Given the description of an element on the screen output the (x, y) to click on. 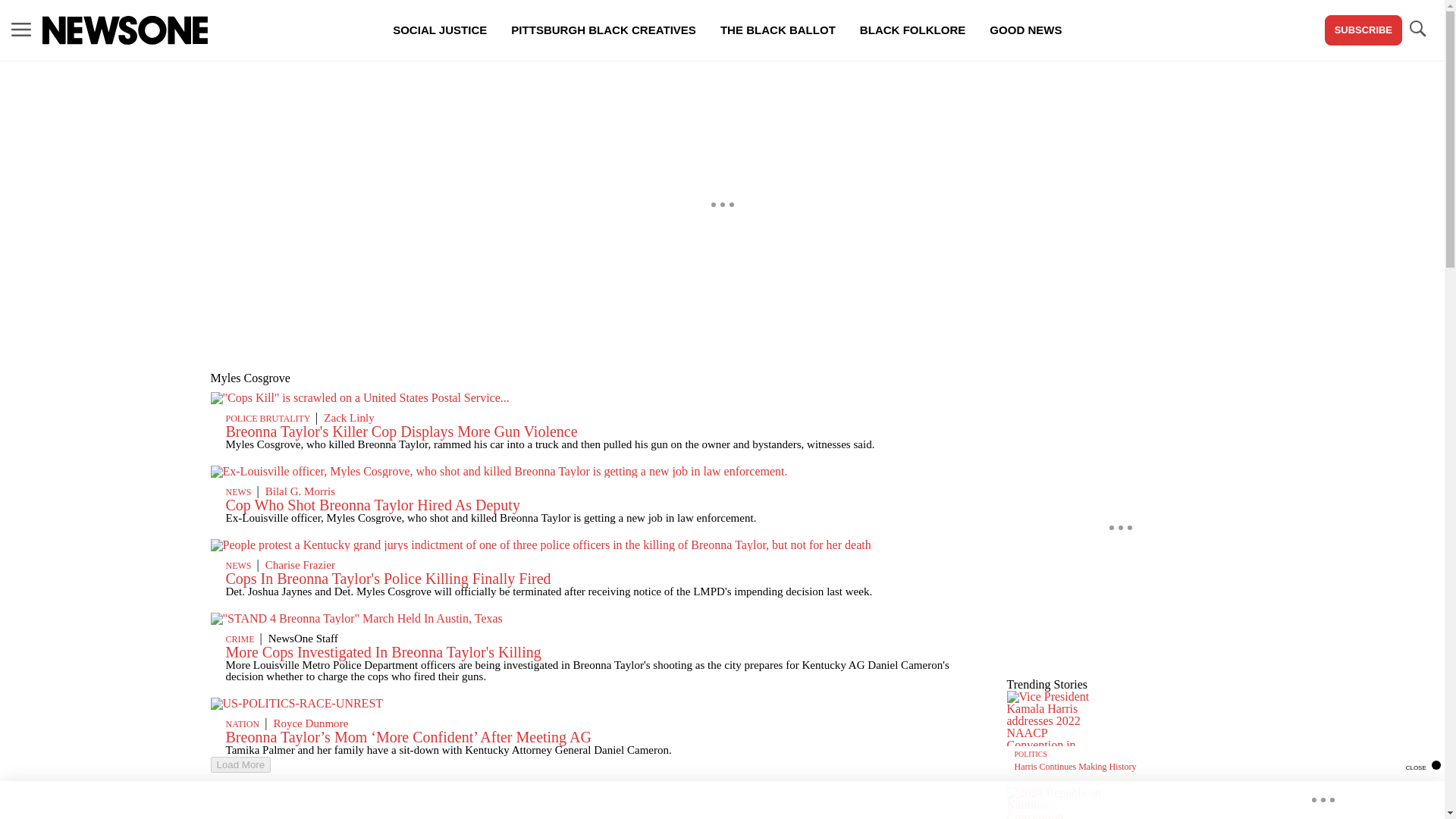
Bilal G. Morris (299, 491)
NATION (242, 724)
Royce Dunmore (310, 723)
Load More (240, 764)
POLICE BRUTALITY (268, 418)
Cop Who Shot Breonna Taylor Hired As Deputy (372, 504)
NEWS (238, 565)
SUBSCRIBE (1363, 30)
POLITICS (1030, 754)
TOGGLE SEARCH (1417, 28)
Harris Continues Making History (1075, 766)
Cops In Breonna Taylor's Police Killing Finally Fired (388, 578)
NEWS (238, 491)
PITTSBURGH BLACK CREATIVES (603, 30)
CRIME (239, 638)
